Given the description of an element on the screen output the (x, y) to click on. 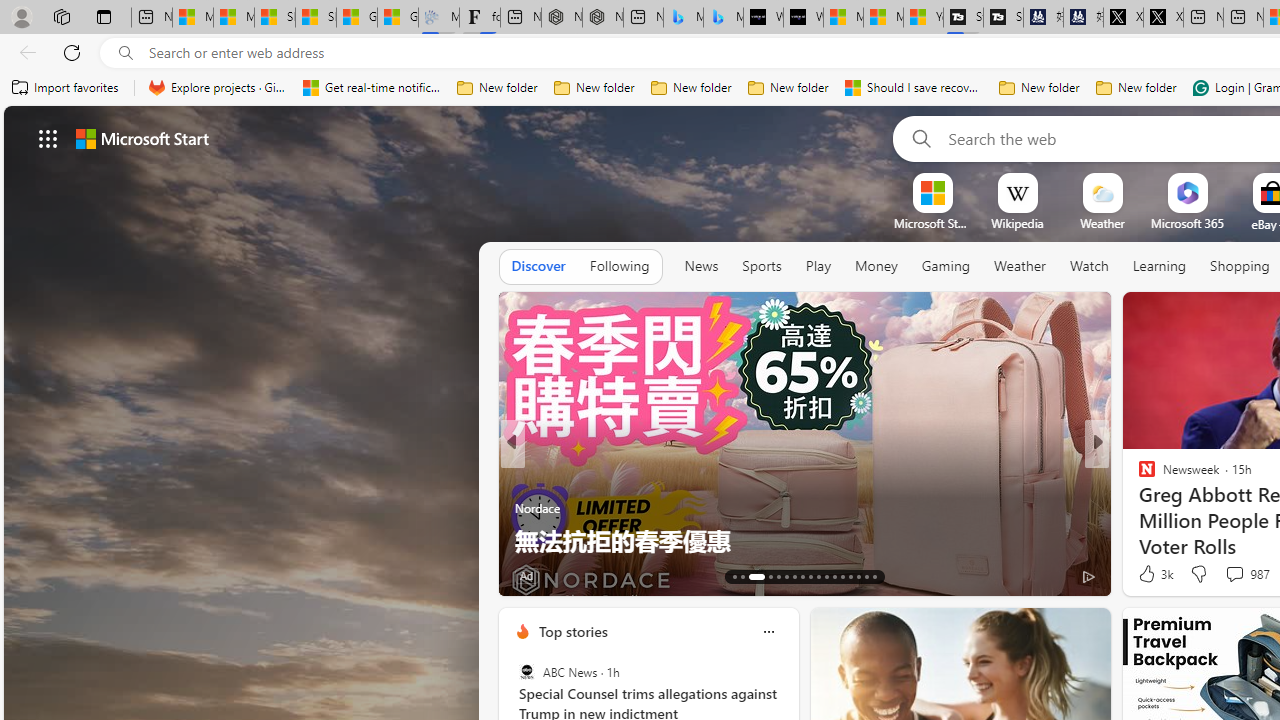
The Independent (1138, 475)
Microsoft Bing Travel - Shangri-La Hotel Bangkok (723, 17)
AutomationID: tab-15 (750, 576)
AutomationID: tab-28 (865, 576)
12 Like (1149, 574)
Should I save recovered Word documents? - Microsoft Support (913, 88)
PsychLove (1138, 475)
AutomationID: tab-17 (778, 576)
View comments 18 Comment (1244, 574)
14 Like (1149, 574)
379 Like (1151, 574)
